Given the description of an element on the screen output the (x, y) to click on. 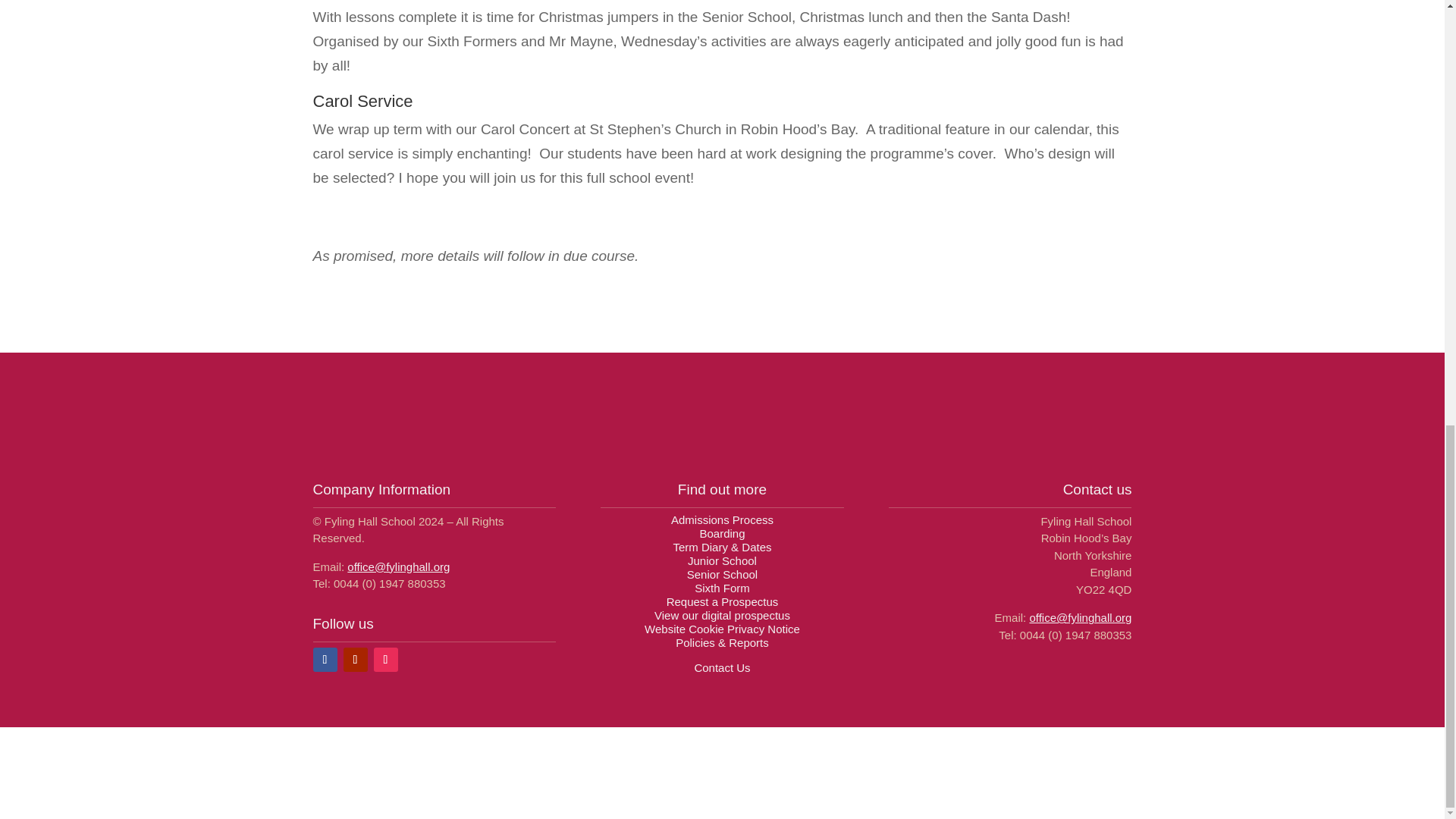
Follow on Youtube (354, 659)
Follow on Facebook (324, 659)
Follow on Instagram (384, 659)
